Given the description of an element on the screen output the (x, y) to click on. 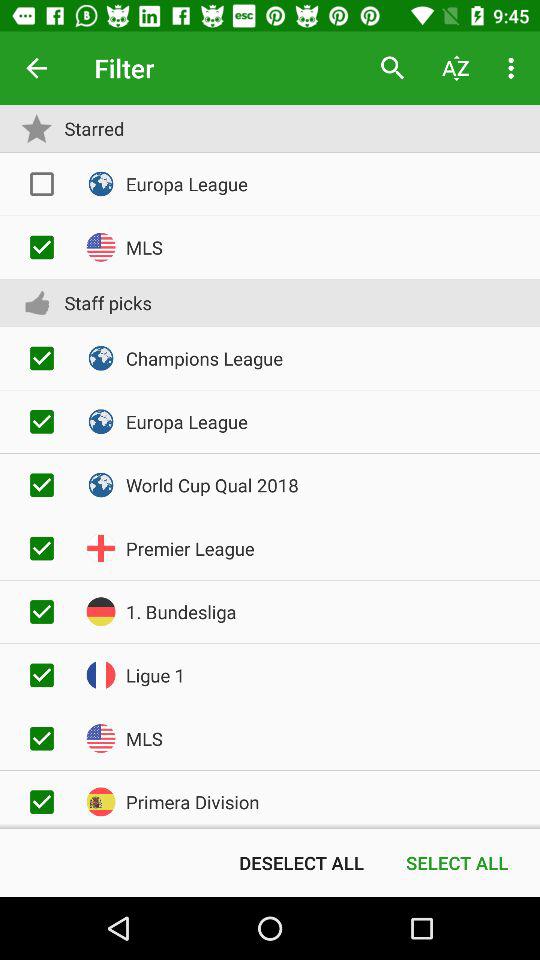
choose the icon next to filter item (36, 68)
